Given the description of an element on the screen output the (x, y) to click on. 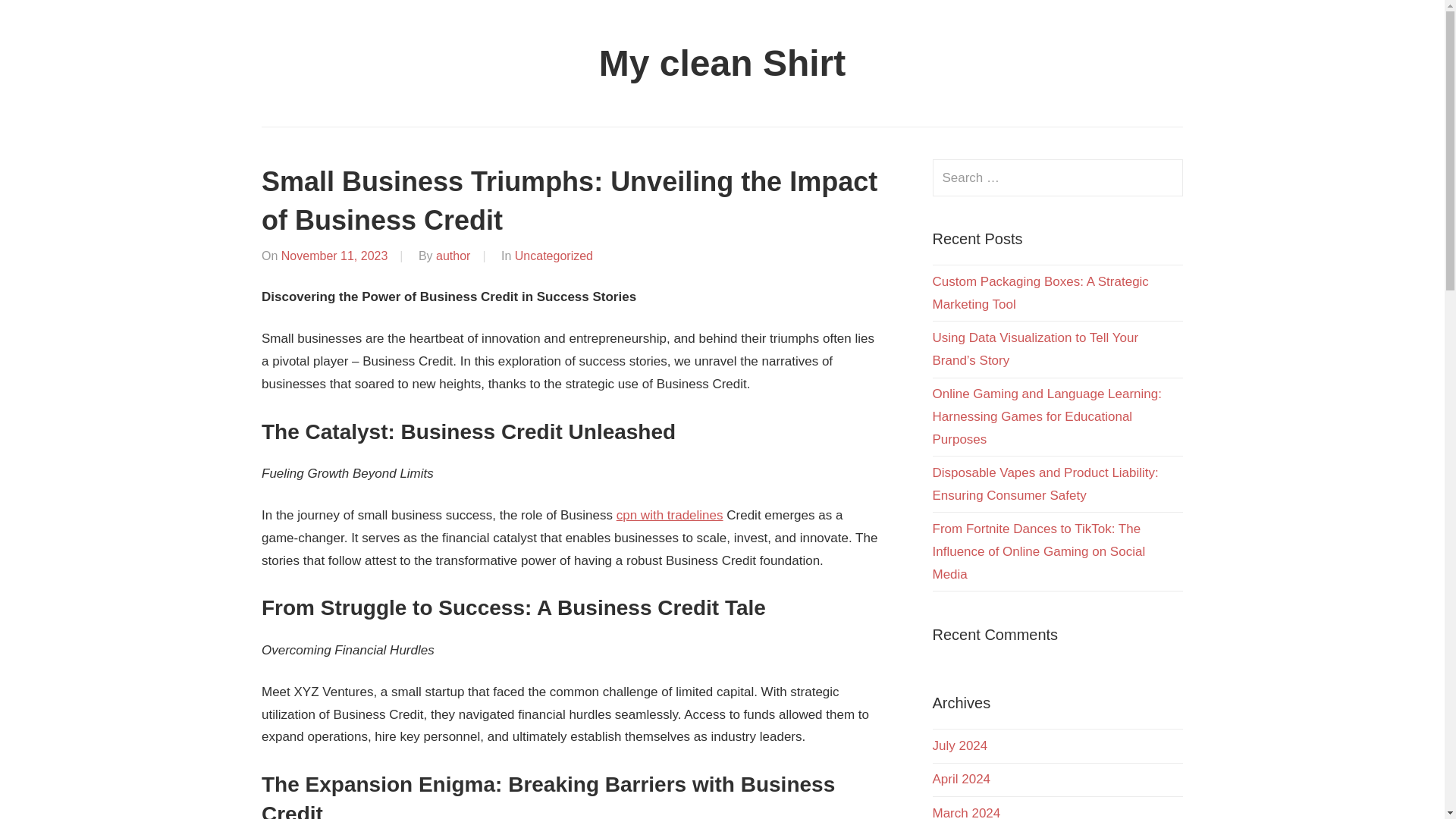
Search for: (1058, 177)
April 2024 (962, 779)
author (452, 255)
Custom Packaging Boxes: A Strategic Marketing Tool (1040, 293)
7:40 am (334, 255)
Uncategorized (553, 255)
My clean Shirt (721, 63)
March 2024 (967, 812)
November 11, 2023 (334, 255)
